Given the description of an element on the screen output the (x, y) to click on. 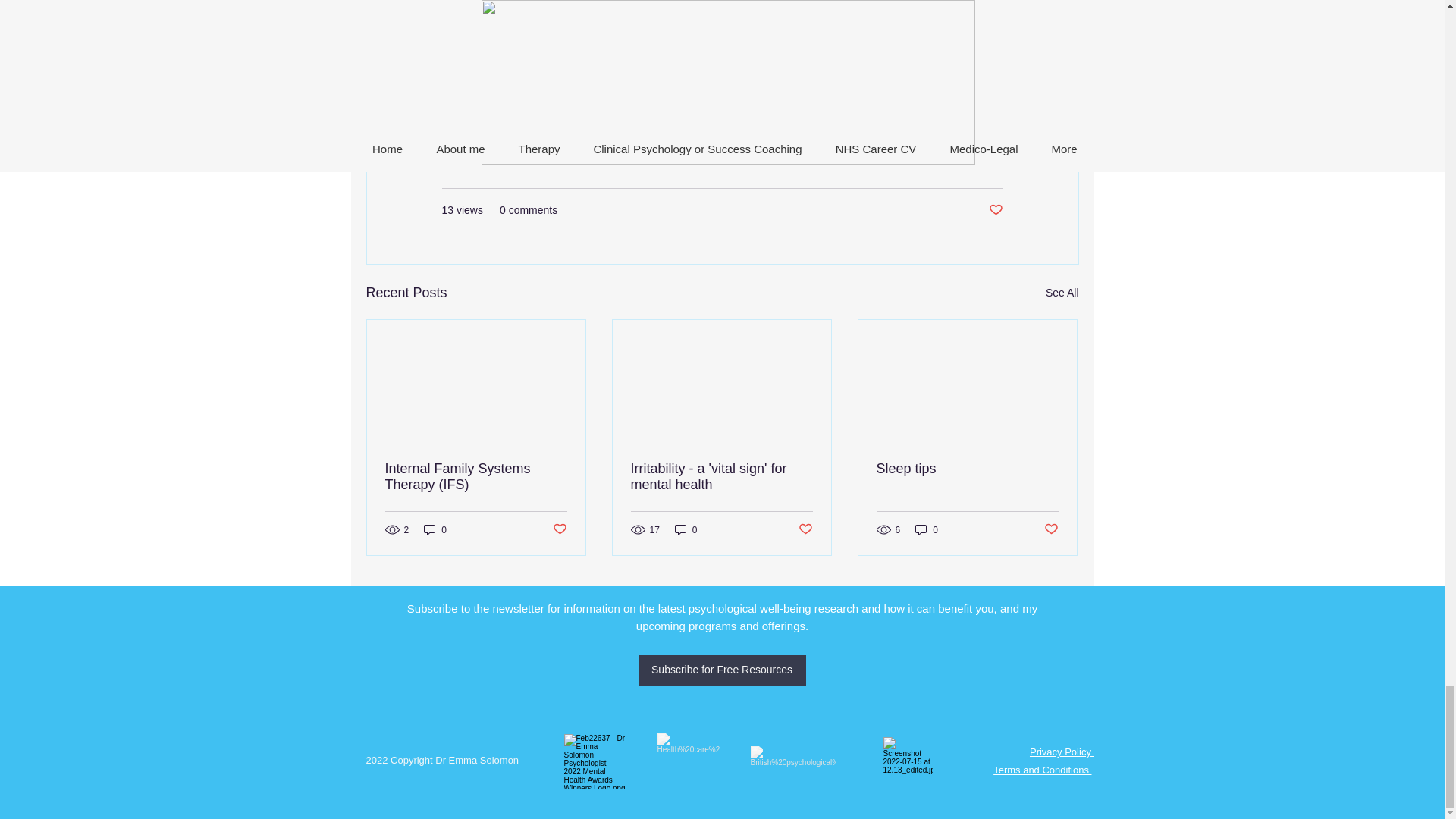
0 (435, 529)
Post not marked as liked (995, 210)
See All (1061, 292)
0 (685, 529)
Post not marked as liked (558, 529)
Post not marked as liked (804, 529)
Irritability - a 'vital sign' for mental health (721, 477)
